Given the description of an element on the screen output the (x, y) to click on. 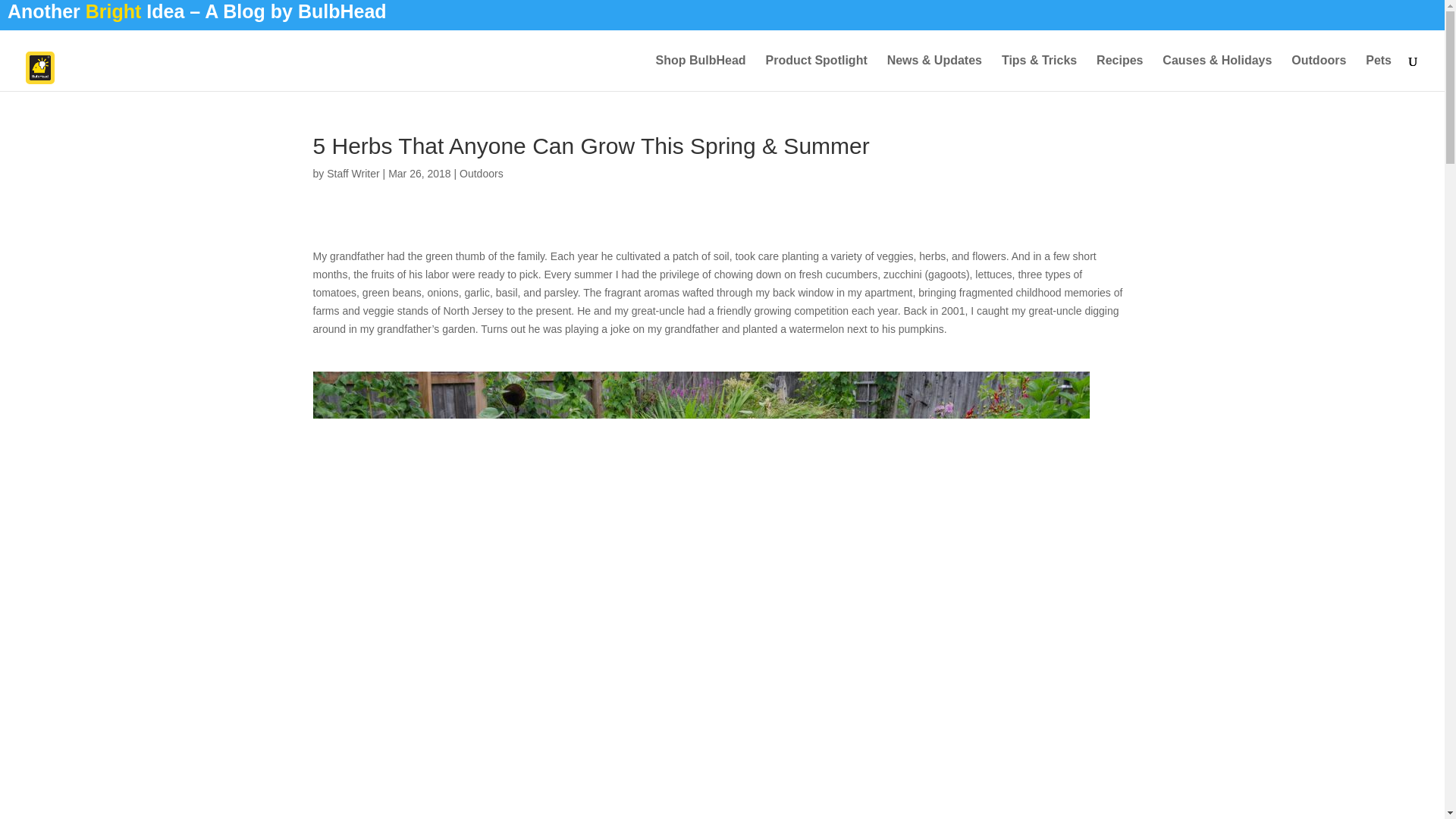
Outdoors (481, 173)
Posts by Staff Writer (353, 173)
Product Spotlight (816, 72)
Staff Writer (353, 173)
Shop BulbHead (700, 72)
Outdoors (1318, 72)
Pets (1378, 72)
Recipes (1119, 72)
